Given the description of an element on the screen output the (x, y) to click on. 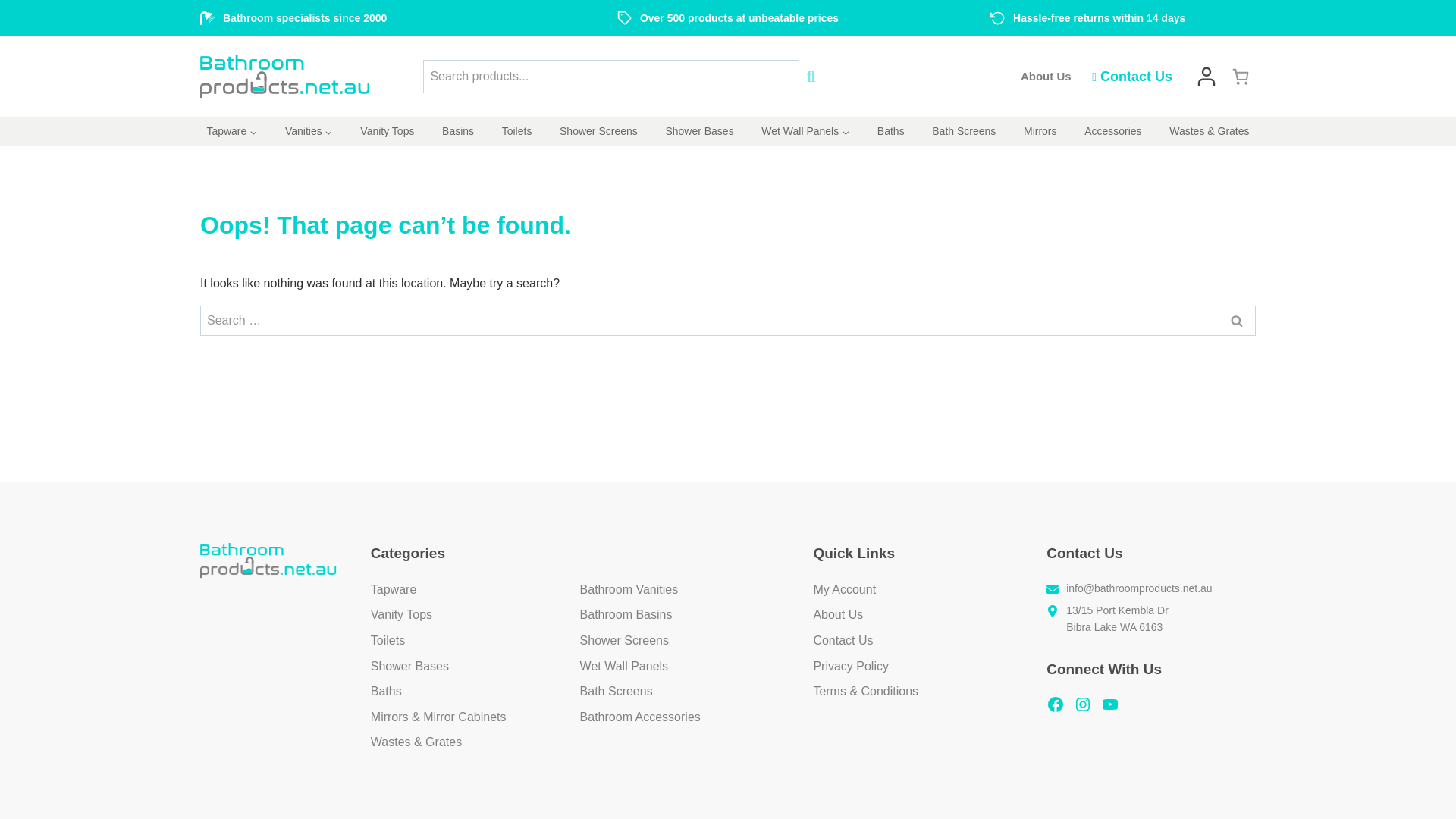
Bath Screens (964, 131)
Accessories (1113, 131)
Wet Wall Panels (805, 131)
Toilets (516, 131)
Contact Us (1132, 76)
About Us (1045, 76)
Tapware (231, 131)
Vanity Tops (386, 131)
Shower Bases (699, 131)
Search (1236, 320)
Vanities (309, 131)
Baths (890, 131)
Basins (457, 131)
Shower Screens (599, 131)
Mirrors (1039, 131)
